Given the description of an element on the screen output the (x, y) to click on. 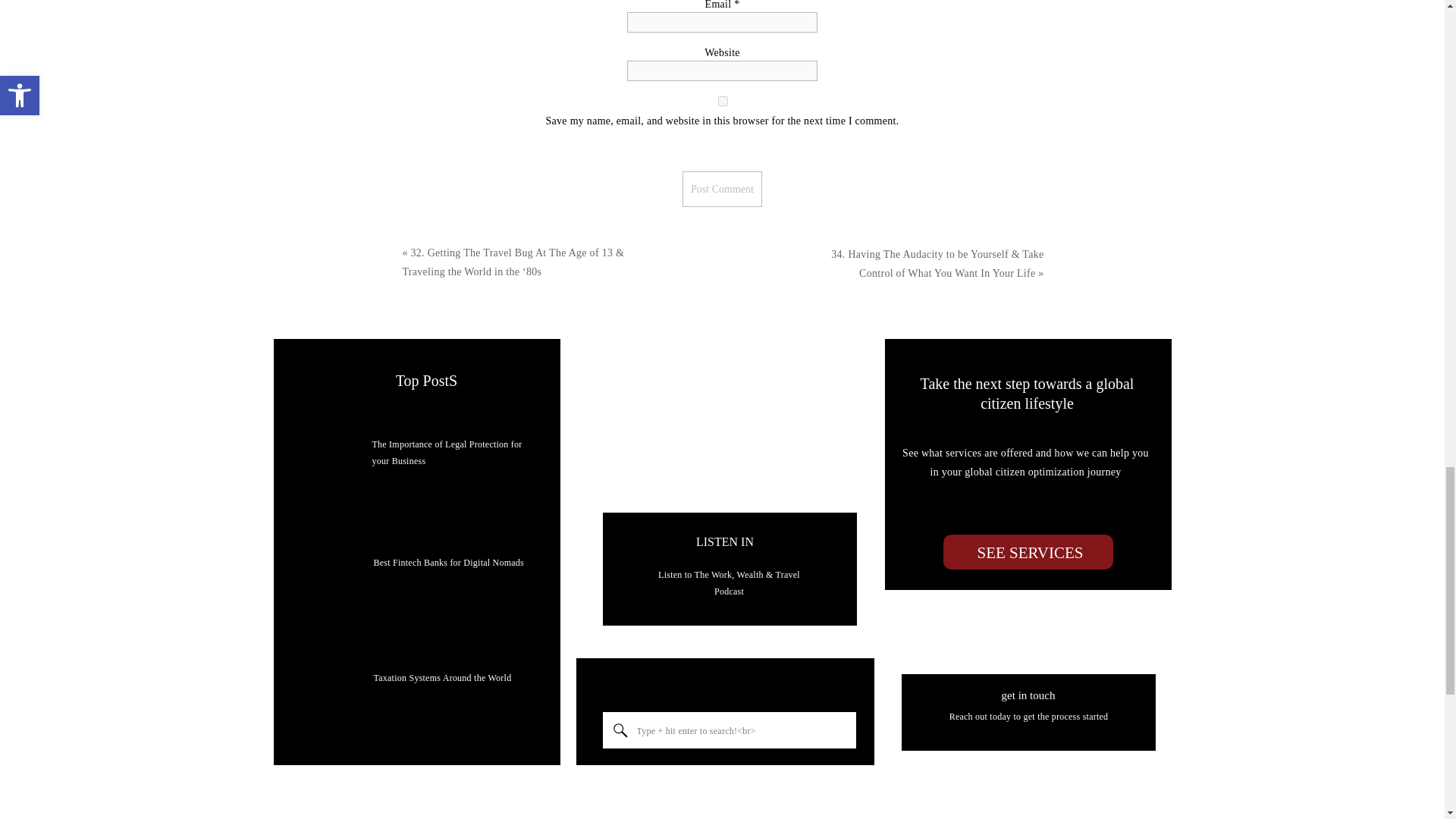
Post Comment (721, 189)
yes (721, 101)
